Given the description of an element on the screen output the (x, y) to click on. 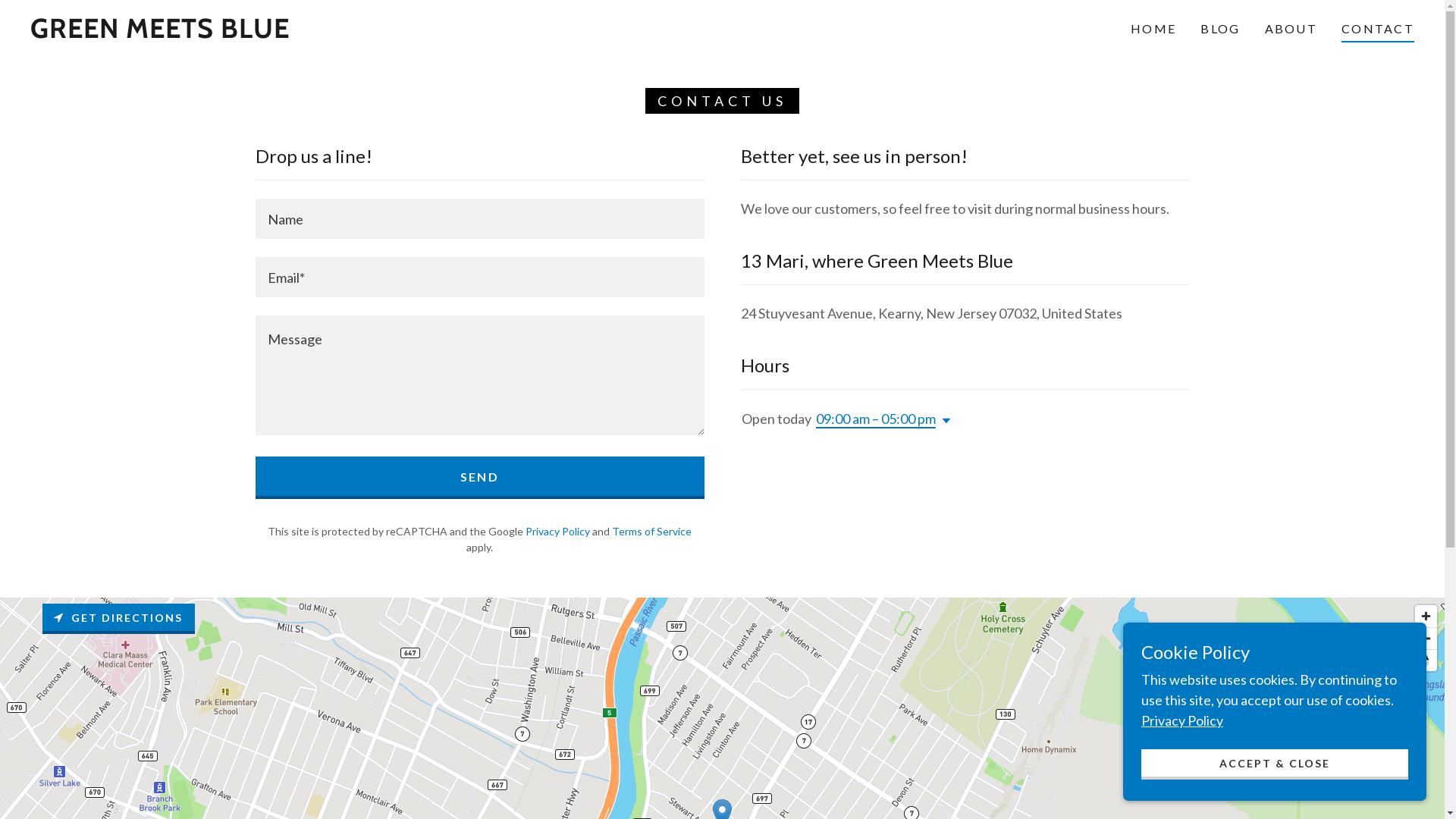
ABOUT Element type: text (1290, 28)
BLOG Element type: text (1219, 28)
ACCEPT & CLOSE Element type: text (1274, 764)
CONTACT Element type: text (1377, 30)
Terms of Service Element type: text (651, 530)
Zoom out Element type: hover (1426, 638)
Privacy Policy Element type: text (1182, 720)
Zoom in Element type: hover (1426, 616)
Reset bearing to north Element type: hover (1426, 660)
SEND Element type: text (478, 477)
HOME Element type: text (1153, 28)
GET DIRECTIONS Element type: text (118, 618)
Privacy Policy Element type: text (557, 530)
GREEN MEETS BLUE Element type: text (159, 32)
